Given the description of an element on the screen output the (x, y) to click on. 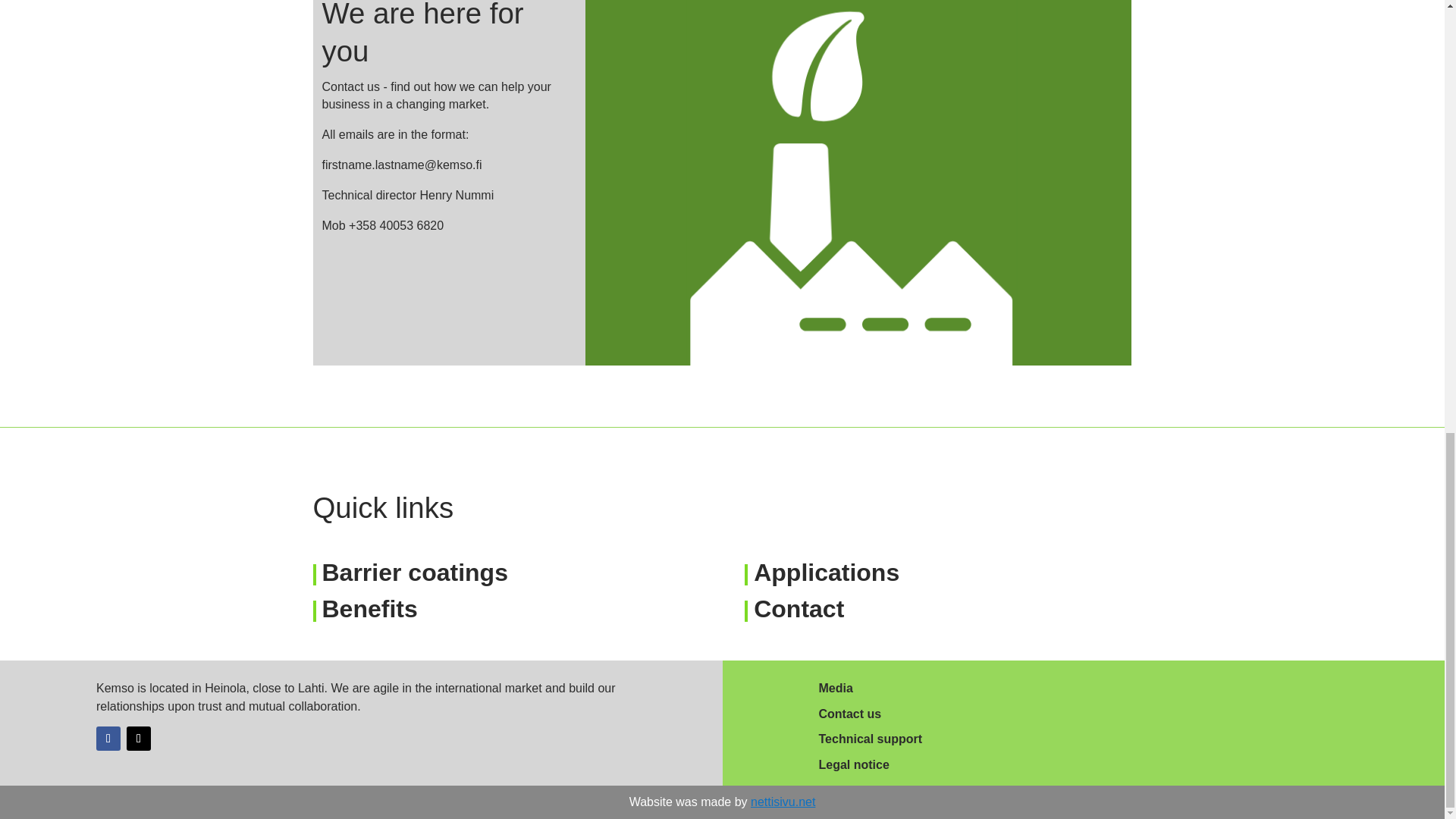
Follow on Facebook (108, 738)
Follow on X (138, 738)
nettisivu.net (783, 801)
